Given the description of an element on the screen output the (x, y) to click on. 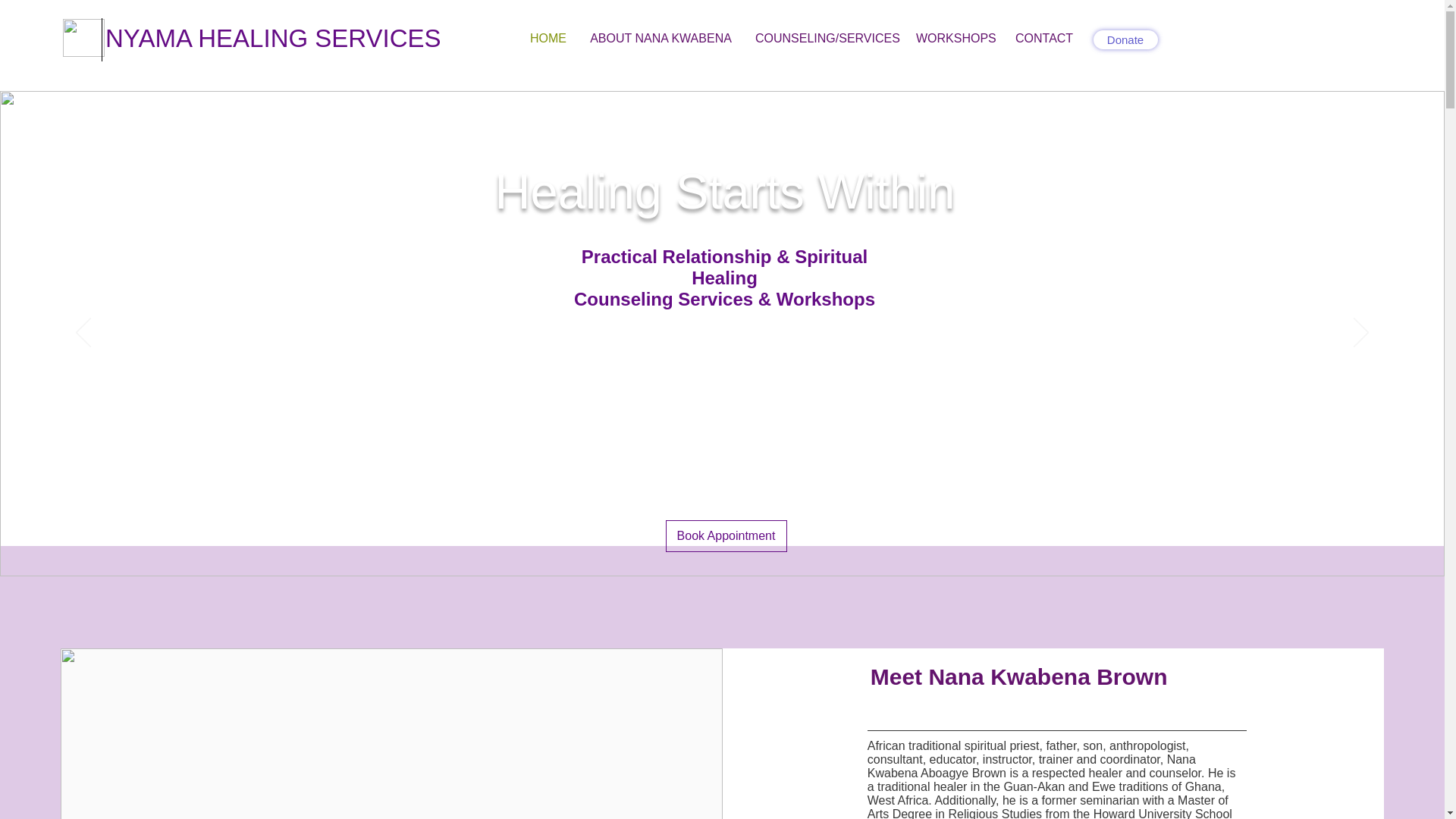
WORKSHOPS (954, 37)
CONTACT (1043, 37)
ABOUT NANA KWABENA (661, 37)
HOME (548, 37)
Book Appointment (726, 536)
Donate (1125, 39)
NYAMA HEALING SERVICES (272, 38)
